Given the description of an element on the screen output the (x, y) to click on. 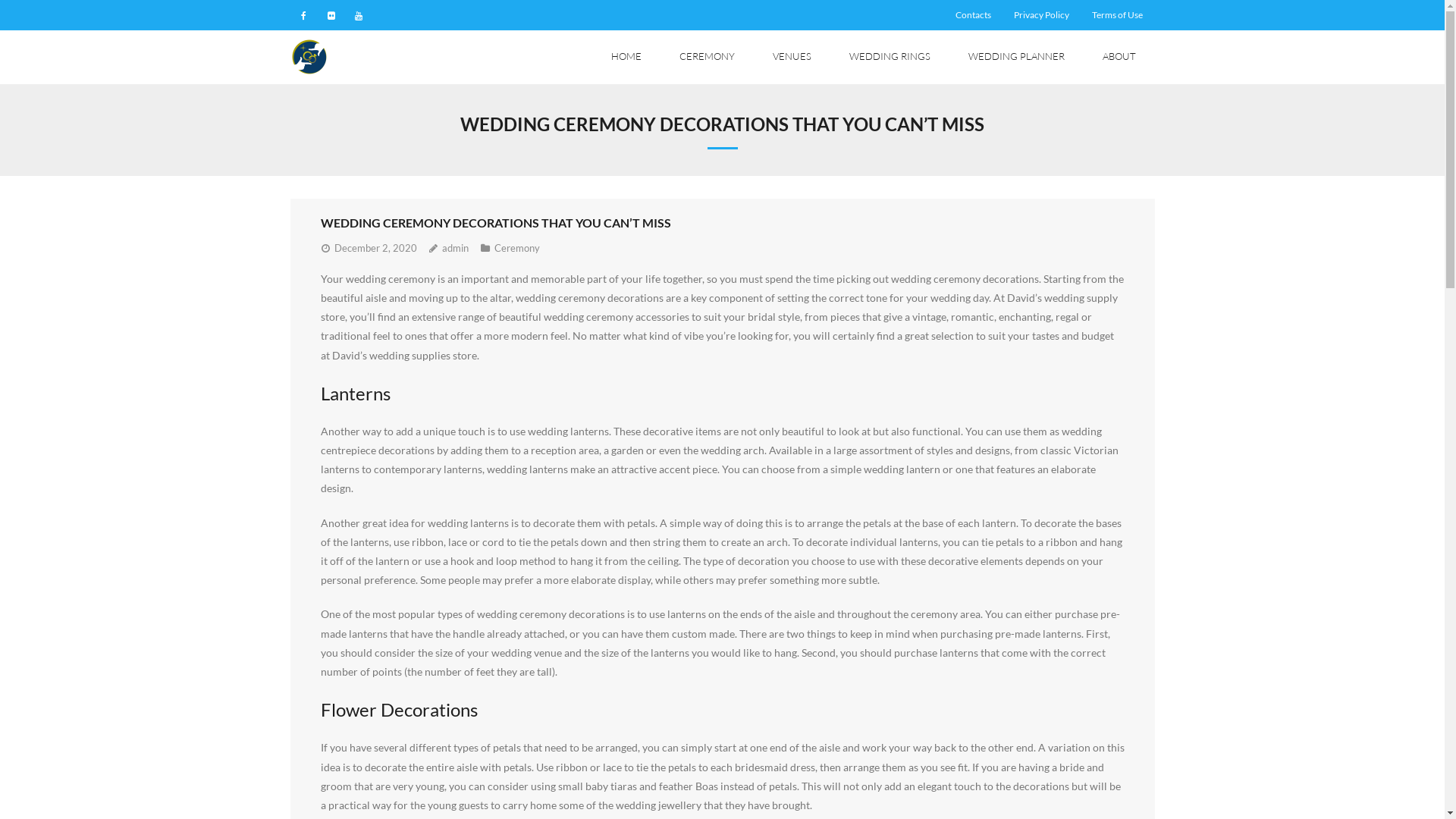
WEDDING RINGS Element type: text (888, 57)
HOME Element type: text (625, 57)
Contacts Element type: text (973, 15)
December 2, 2020 Element type: text (374, 247)
CEREMONY Element type: text (706, 57)
WEDDING PLANNER Element type: text (1016, 57)
ABOUT Element type: text (1118, 57)
Ceremony Element type: text (516, 247)
Privacy Policy Element type: text (1041, 15)
Terms of Use Element type: text (1117, 15)
admin Element type: text (454, 247)
VENUES Element type: text (791, 57)
